Given the description of an element on the screen output the (x, y) to click on. 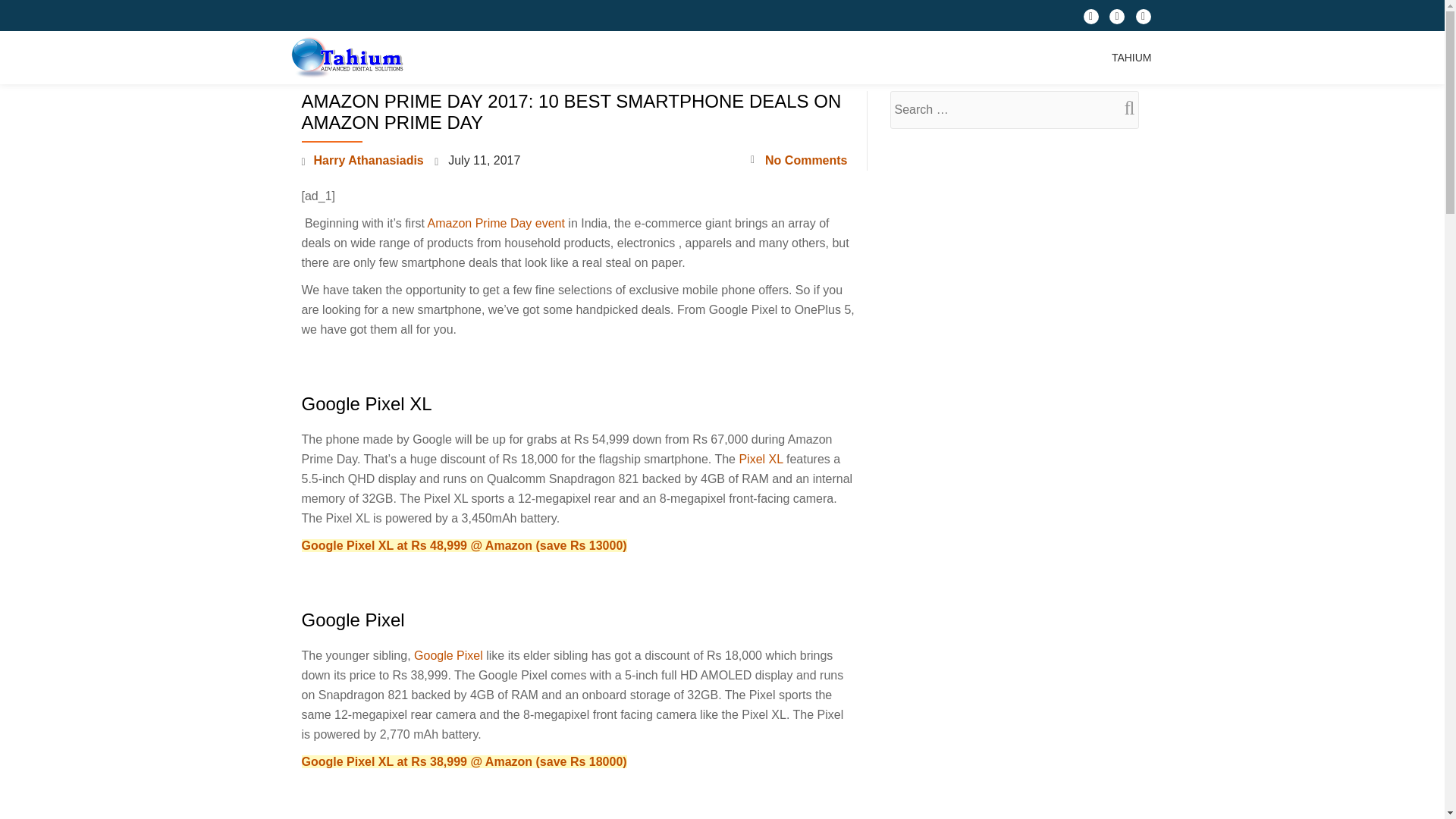
Search (1122, 107)
Tahium (349, 57)
Pixel XL (760, 459)
Google Pixel (448, 655)
Search (1122, 107)
TAHIUM (1131, 57)
Amazon Prime Day event (496, 223)
fa-linkedin-square (1143, 19)
No Comments (799, 160)
fa-facebook (1091, 19)
Harry Athanasiadis (368, 160)
fa-twitter (1116, 19)
Search (1122, 107)
